Given the description of an element on the screen output the (x, y) to click on. 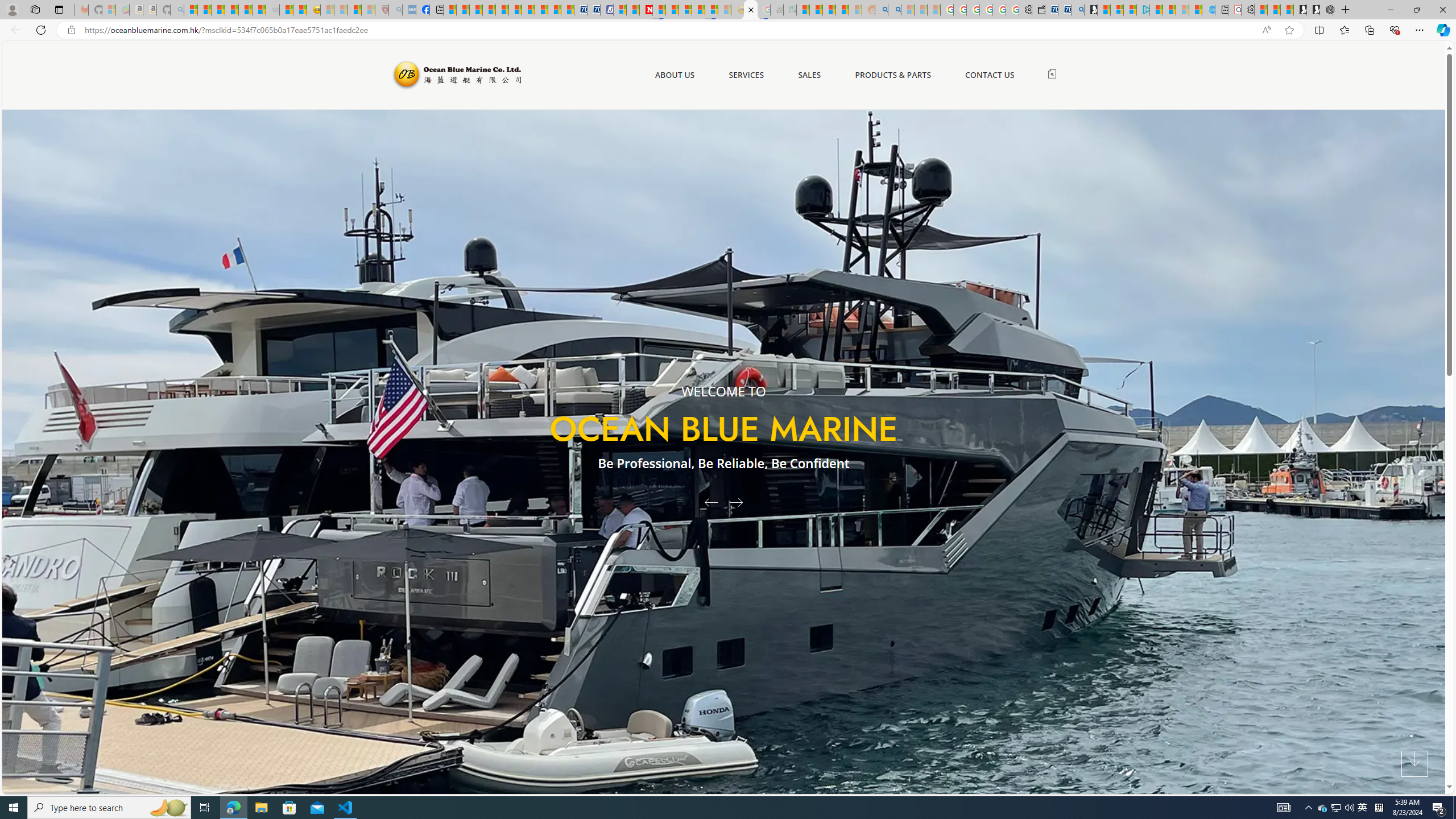
SERVICES (746, 75)
SALES (809, 74)
